Given the description of an element on the screen output the (x, y) to click on. 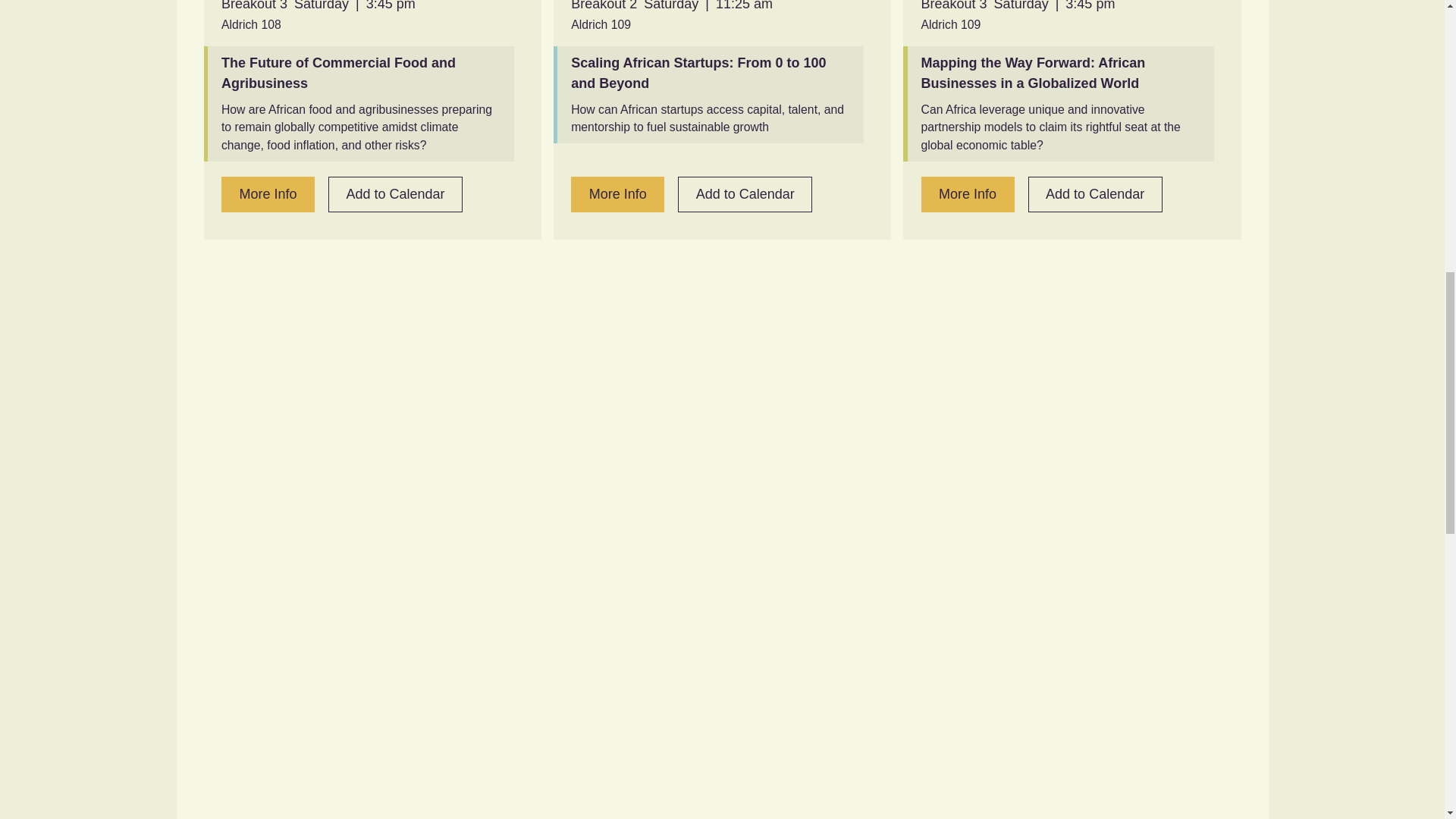
More Info (616, 194)
Add to Calendar (1094, 194)
More Info (267, 194)
More Info (967, 194)
Add to Calendar (745, 194)
Add to Calendar (396, 194)
